Given the description of an element on the screen output the (x, y) to click on. 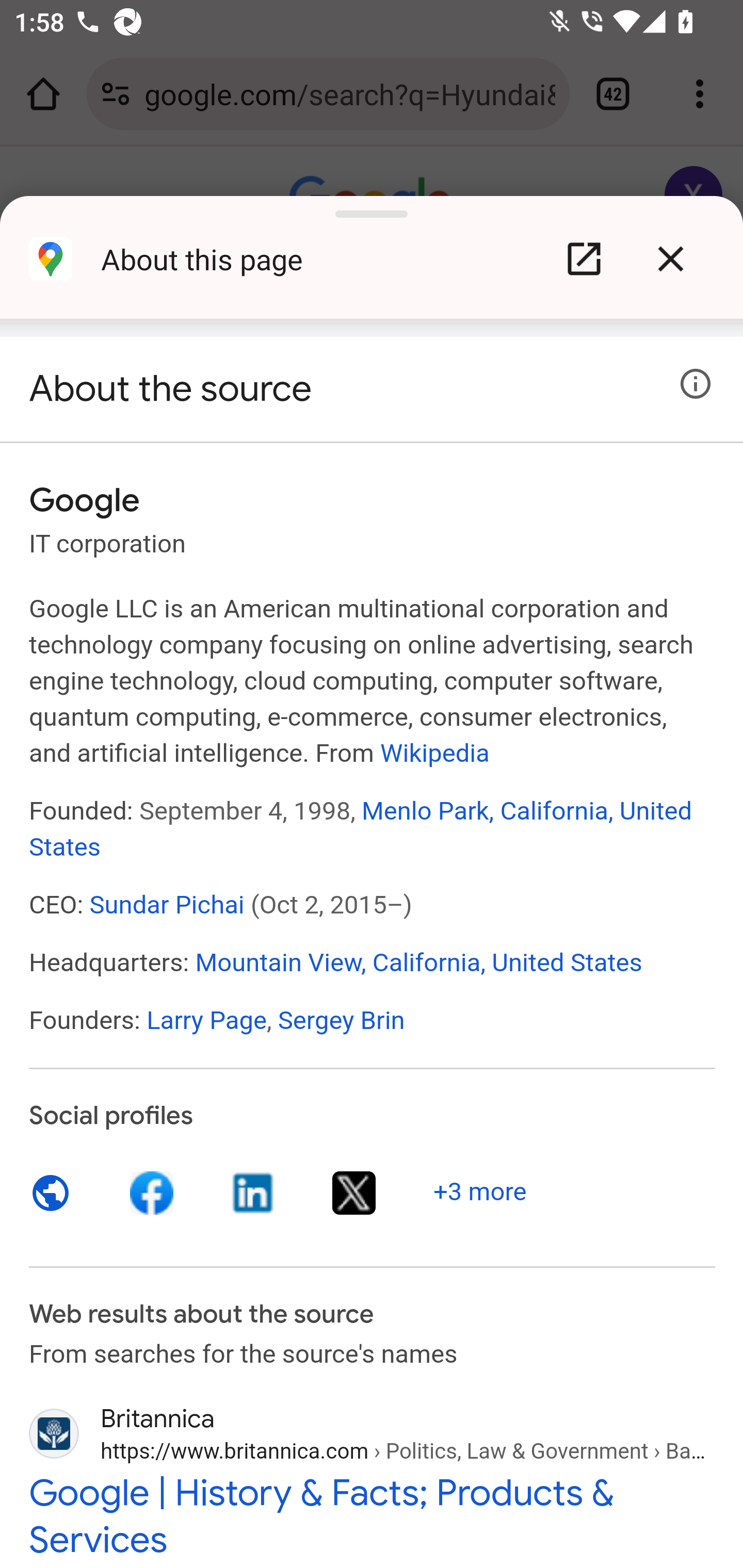
About this page Open in new tab Close (371, 266)
Open in new tab (583, 259)
Close (670, 259)
Support about the source (695, 384)
Wikipedia (434, 752)
Menlo Park, California, United States (360, 828)
Sundar Pichai (166, 904)
Mountain View, California, United States (418, 961)
Larry Page (206, 1019)
Sergey Brin (341, 1019)
Official site, Google (51, 1193)
facebook.com, Google (152, 1193)
linkedin.com, Google (252, 1193)
twitter.com, Google (354, 1193)
+3 more (480, 1191)
